Given the description of an element on the screen output the (x, y) to click on. 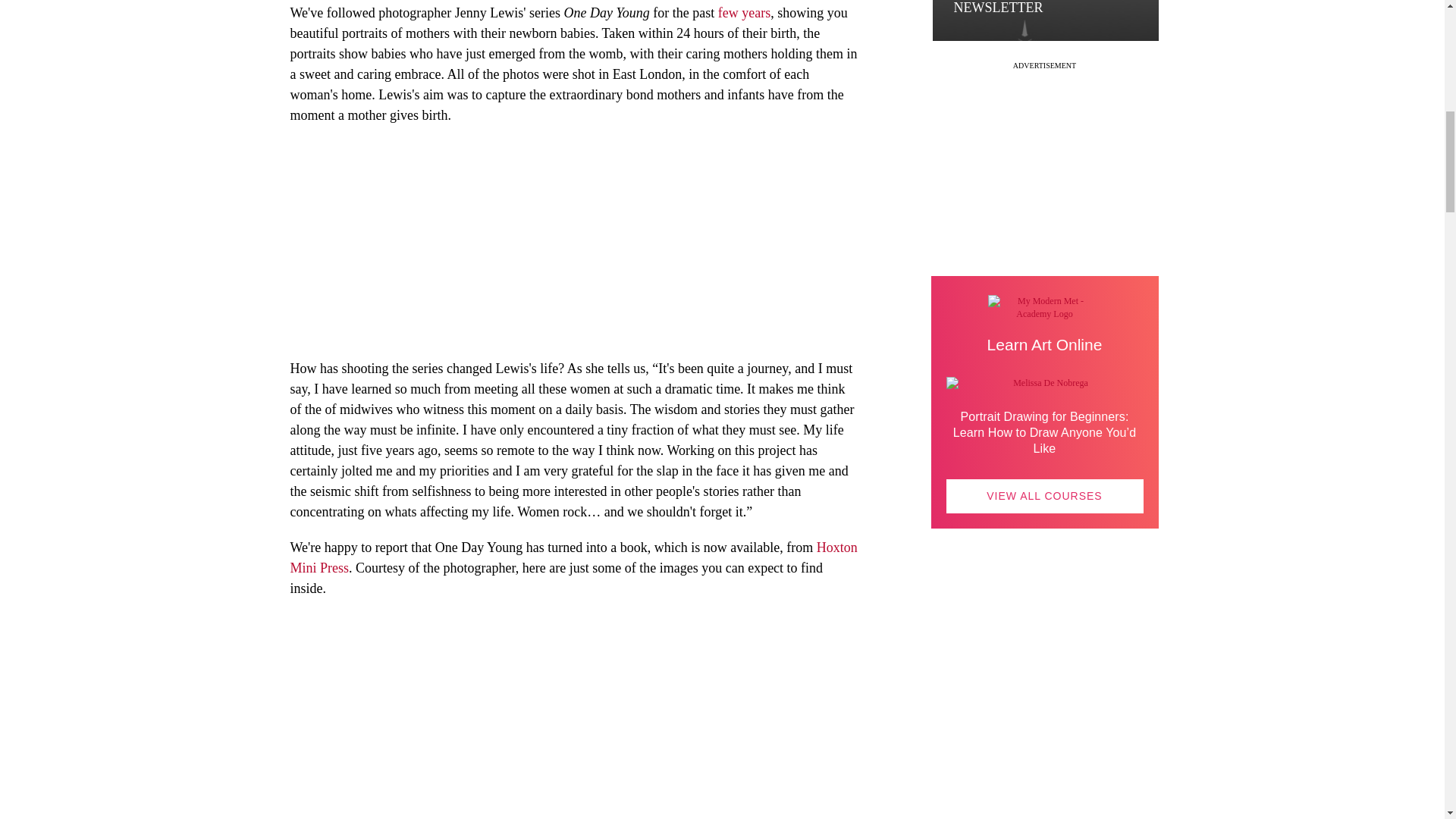
Visit Our Store (1044, 716)
